Given the description of an element on the screen output the (x, y) to click on. 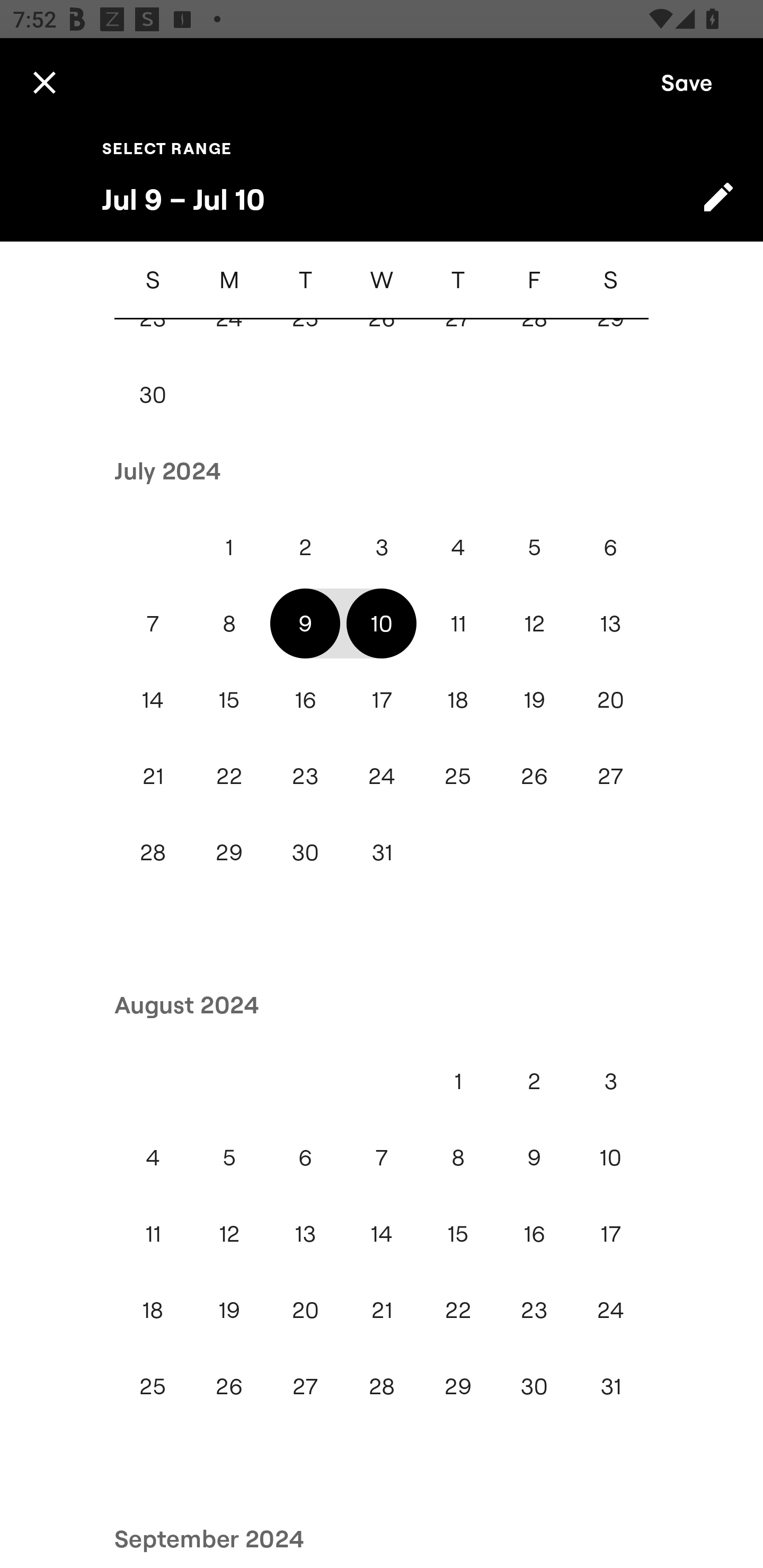
Cancel (44, 81)
Save (686, 81)
Switch to text input mode (718, 196)
30 Sun, Jun 30 (152, 393)
1 Mon, Jul 1 (228, 546)
2 Tue, Jul 2 (305, 546)
3 Wed, Jul 3 (381, 546)
4 Thu, Jul 4 (457, 546)
5 Fri, Jul 5 (533, 546)
6 Sat, Jul 6 (610, 546)
7 Sun, Jul 7 (152, 622)
8 Mon, Jul 8 (228, 622)
9 Tue, Jul 9 (305, 622)
10 Wed, Jul 10 (381, 622)
11 Thu, Jul 11 (457, 622)
12 Fri, Jul 12 (533, 622)
13 Sat, Jul 13 (610, 622)
14 Sun, Jul 14 (152, 699)
15 Mon, Jul 15 (228, 699)
16 Tue, Jul 16 (305, 699)
17 Wed, Jul 17 (381, 699)
18 Thu, Jul 18 (457, 699)
19 Fri, Jul 19 (533, 699)
20 Sat, Jul 20 (610, 699)
21 Sun, Jul 21 (152, 775)
22 Mon, Jul 22 (228, 775)
23 Tue, Jul 23 (305, 775)
24 Wed, Jul 24 (381, 775)
25 Thu, Jul 25 (457, 775)
26 Fri, Jul 26 (533, 775)
27 Sat, Jul 27 (610, 775)
28 Sun, Jul 28 (152, 851)
29 Mon, Jul 29 (228, 851)
30 Tue, Jul 30 (305, 851)
31 Wed, Jul 31 (381, 851)
1 Thu, Aug 1 (457, 1080)
2 Fri, Aug 2 (533, 1080)
3 Sat, Aug 3 (610, 1080)
4 Sun, Aug 4 (152, 1156)
5 Mon, Aug 5 (228, 1156)
6 Tue, Aug 6 (305, 1156)
7 Wed, Aug 7 (381, 1156)
8 Thu, Aug 8 (457, 1156)
9 Fri, Aug 9 (533, 1156)
10 Sat, Aug 10 (610, 1156)
11 Sun, Aug 11 (152, 1232)
12 Mon, Aug 12 (228, 1232)
13 Tue, Aug 13 (305, 1232)
14 Wed, Aug 14 (381, 1232)
15 Thu, Aug 15 (457, 1232)
16 Fri, Aug 16 (533, 1232)
17 Sat, Aug 17 (610, 1232)
18 Sun, Aug 18 (152, 1309)
19 Mon, Aug 19 (228, 1309)
20 Tue, Aug 20 (305, 1309)
21 Wed, Aug 21 (381, 1309)
22 Thu, Aug 22 (457, 1309)
23 Fri, Aug 23 (533, 1309)
24 Sat, Aug 24 (610, 1309)
25 Sun, Aug 25 (152, 1385)
26 Mon, Aug 26 (228, 1385)
27 Tue, Aug 27 (305, 1385)
28 Wed, Aug 28 (381, 1385)
29 Thu, Aug 29 (457, 1385)
30 Fri, Aug 30 (533, 1385)
31 Sat, Aug 31 (610, 1385)
